Given the description of an element on the screen output the (x, y) to click on. 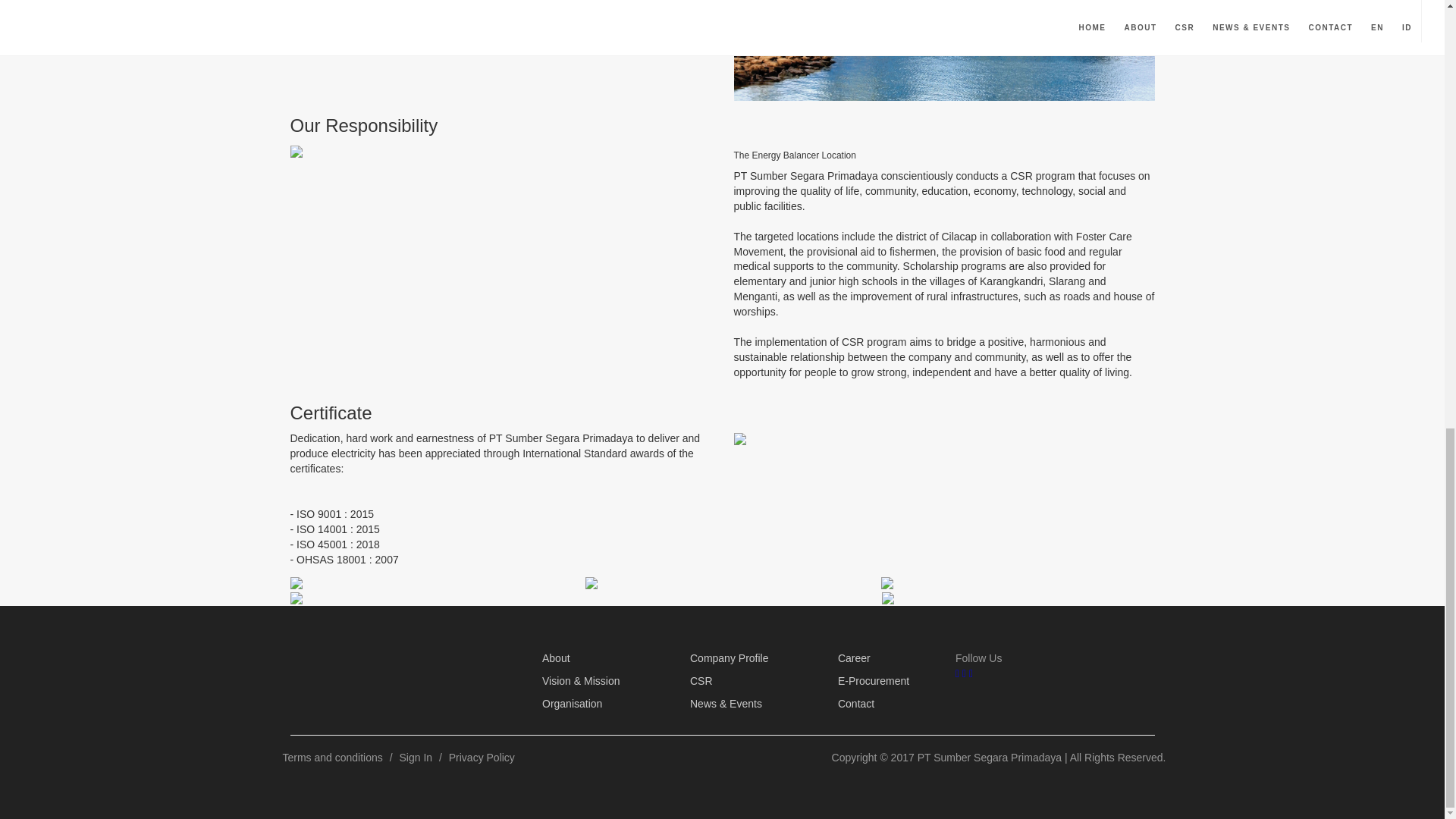
Contact (856, 703)
CSR (701, 681)
About (555, 658)
Career (854, 658)
Terms and conditions (331, 757)
Company Profile (729, 658)
Sign In (415, 757)
E-Procurement (873, 681)
Privacy Policy (481, 757)
Organisation (571, 703)
